Given the description of an element on the screen output the (x, y) to click on. 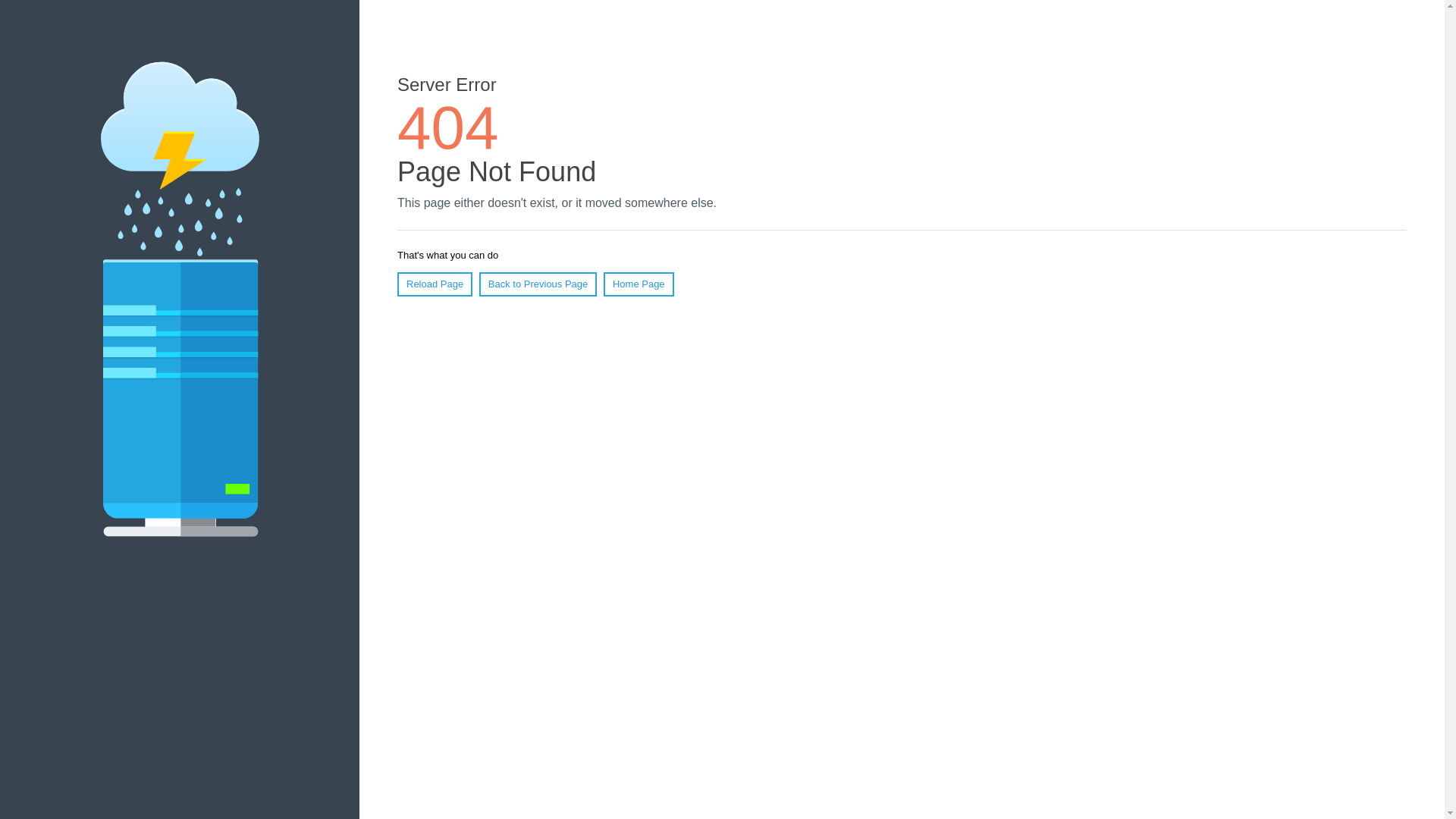
Reload Page Element type: text (434, 284)
Home Page Element type: text (638, 284)
Back to Previous Page Element type: text (538, 284)
